Given the description of an element on the screen output the (x, y) to click on. 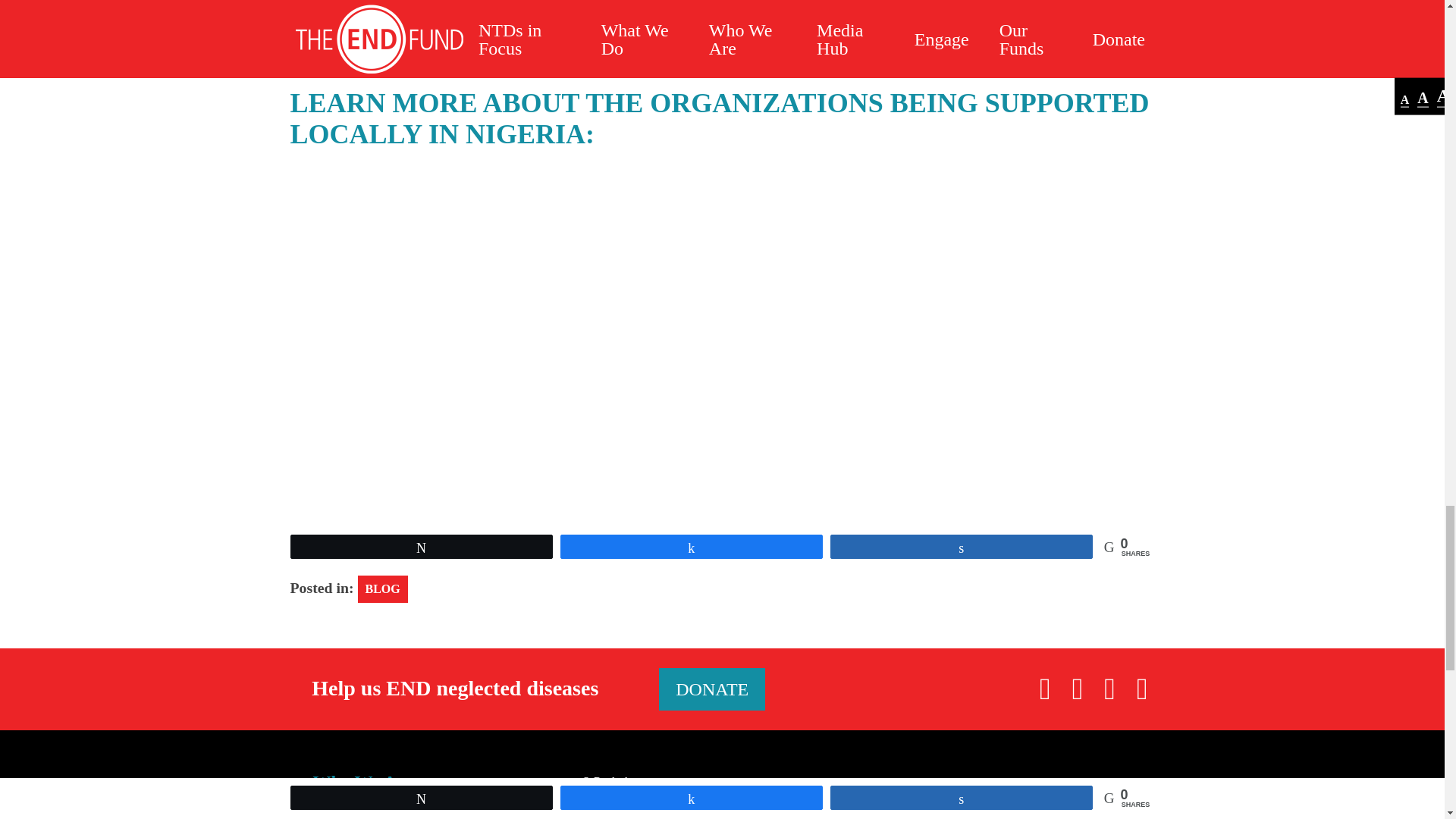
NTDs in Focus (370, 813)
DONATE (712, 689)
BLOG (382, 588)
Who We Are (362, 781)
